Given the description of an element on the screen output the (x, y) to click on. 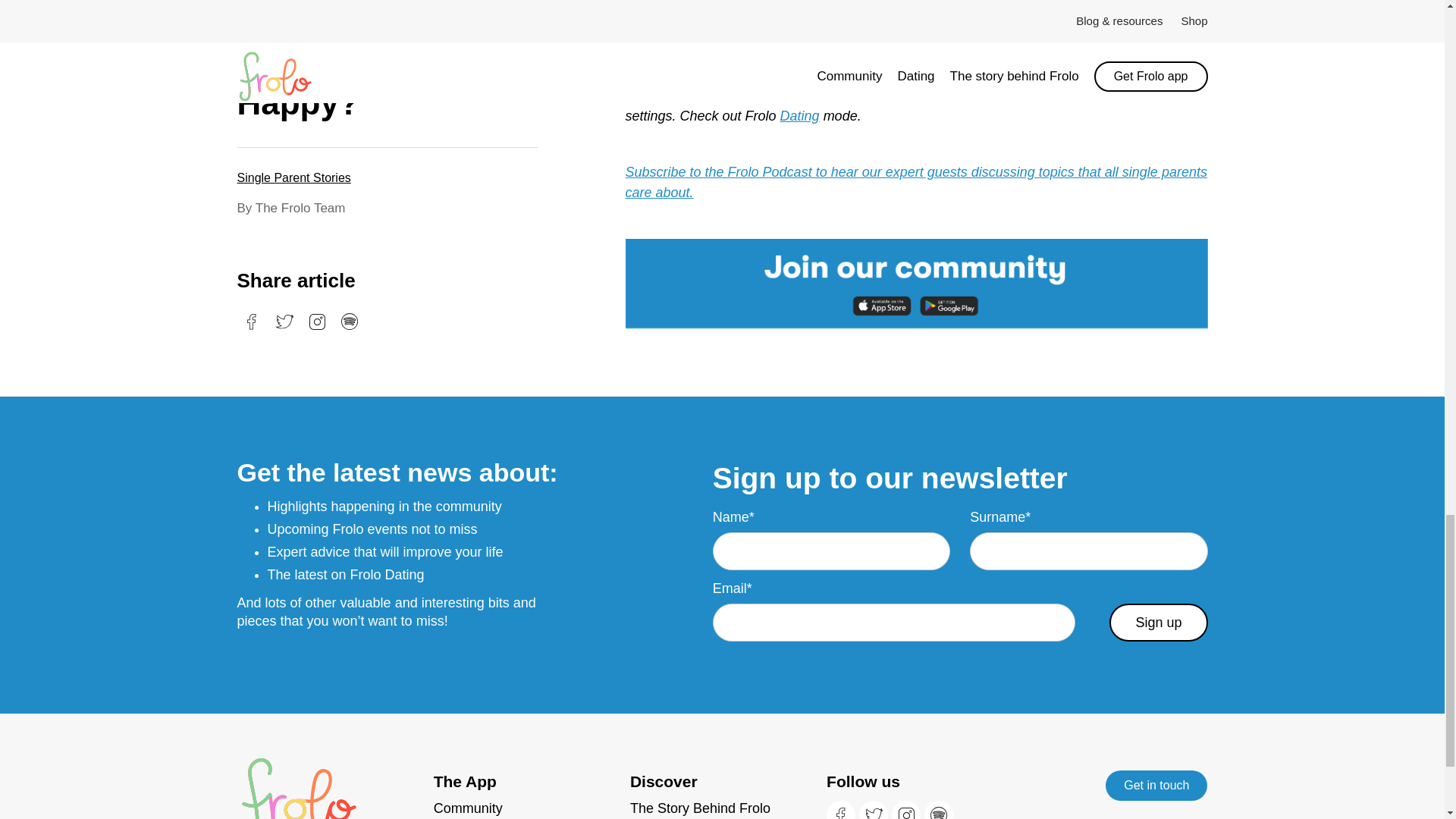
Sign up (1158, 622)
The Story Behind Frolo (721, 807)
Community (525, 807)
Sign up (1158, 622)
Dating (799, 115)
Frolo Dating (661, 74)
Group Chats (809, 54)
